Given the description of an element on the screen output the (x, y) to click on. 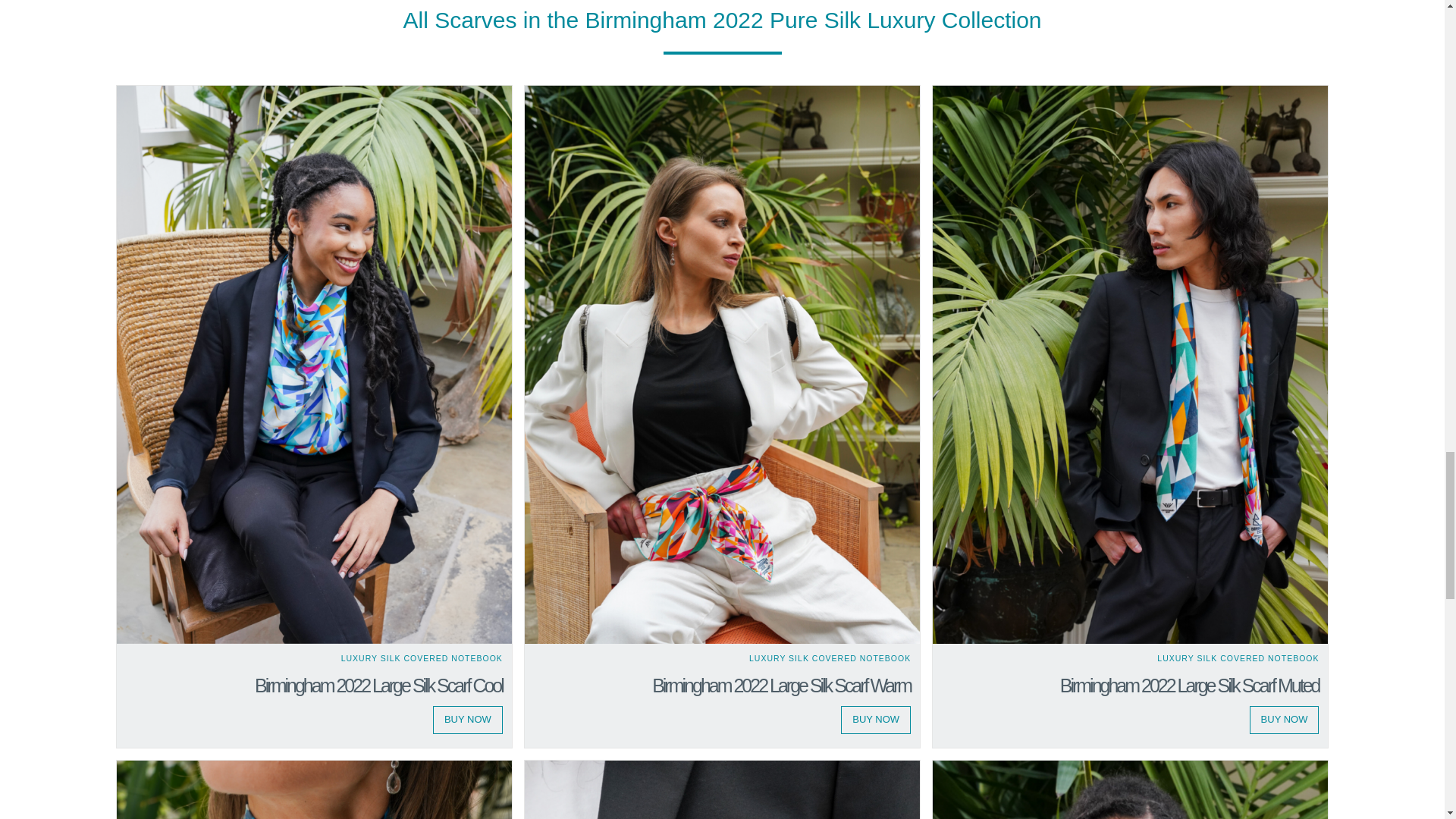
Buy Now (467, 719)
